Given the description of an element on the screen output the (x, y) to click on. 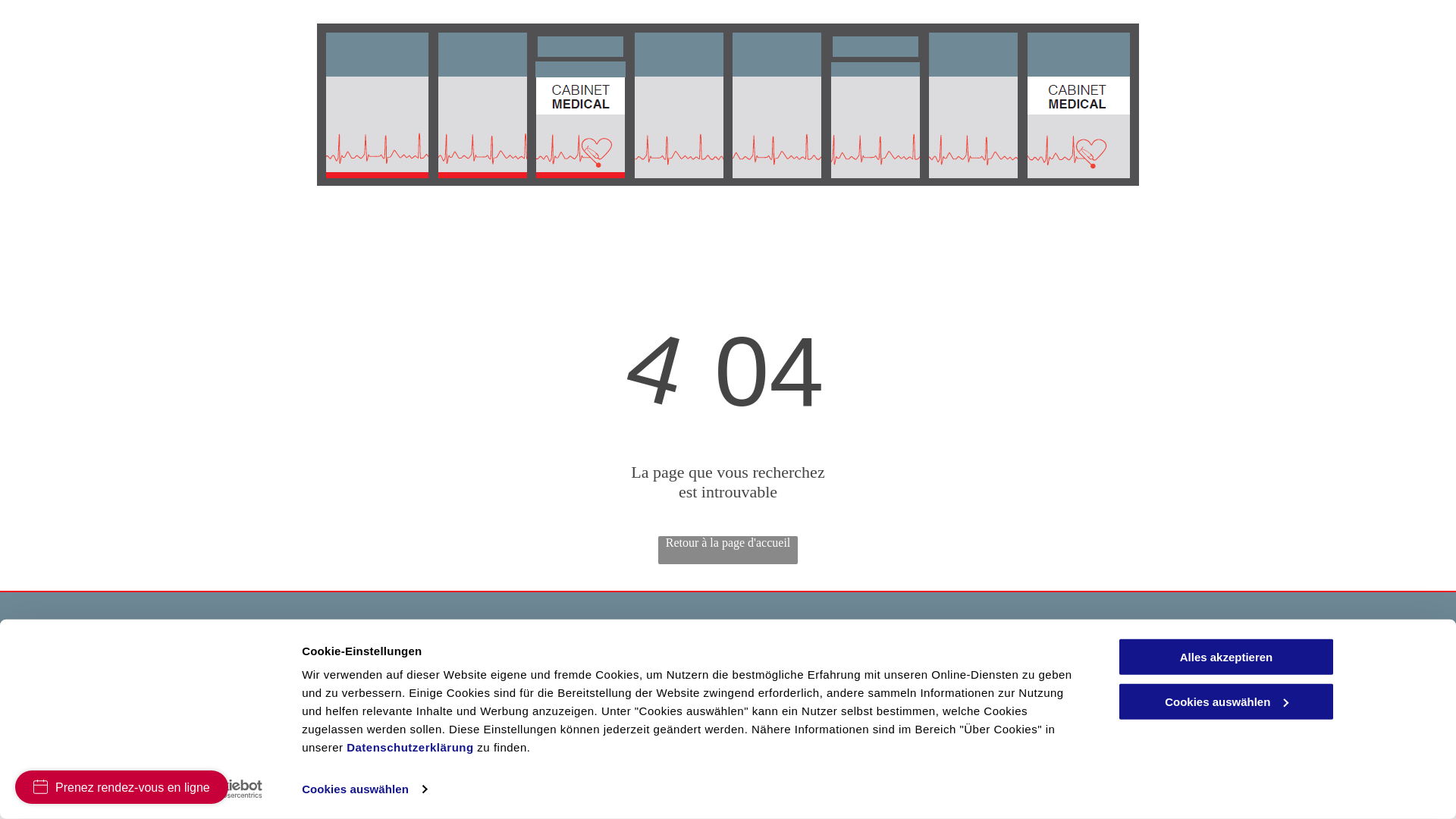
026 912 75 75 Element type: text (551, 664)
chryssoulastelios@yahoo.fr Element type: text (584, 727)
Prenez rendez-vous en ligne Element type: text (121, 786)
Alles akzeptieren Element type: text (1225, 656)
